Given the description of an element on the screen output the (x, y) to click on. 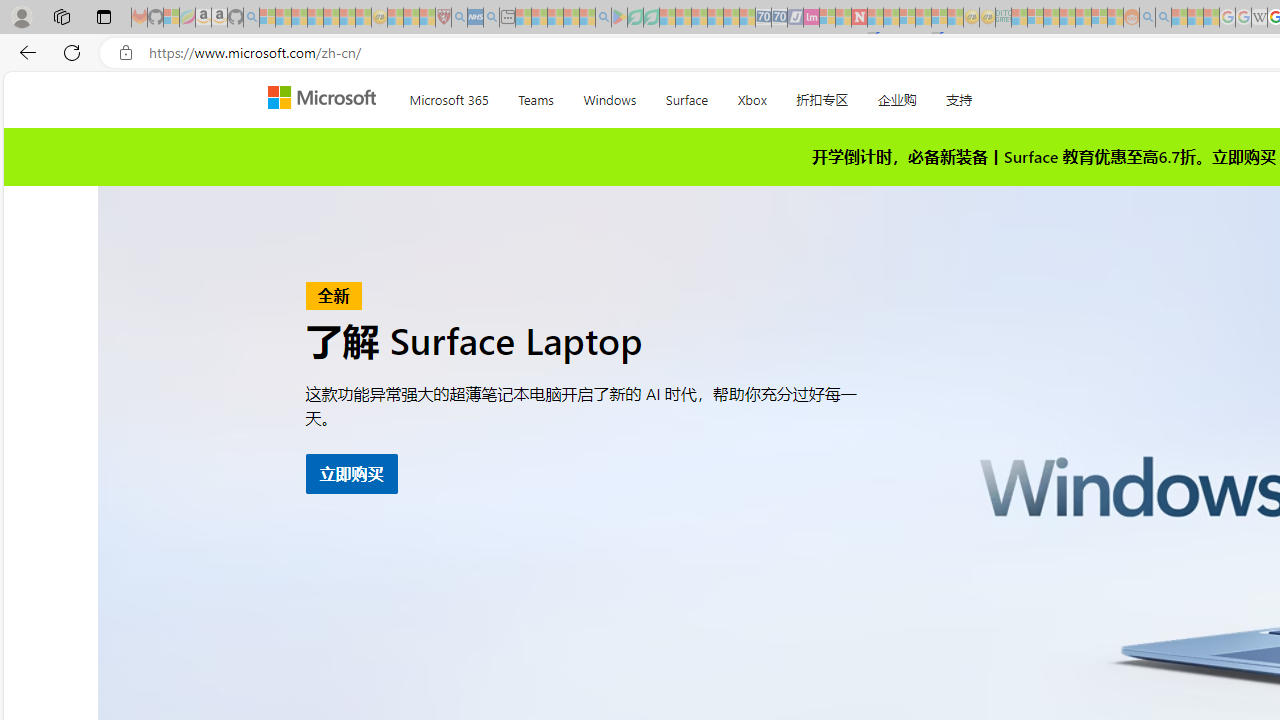
NCL Adult Asthma Inhaler Choice Guideline - Sleeping (475, 17)
Recipes - MSN - Sleeping (395, 17)
Microsoft account | Privacy - Sleeping (1035, 17)
Surface (686, 96)
Microsoft Start - Sleeping (1179, 17)
